Given the description of an element on the screen output the (x, y) to click on. 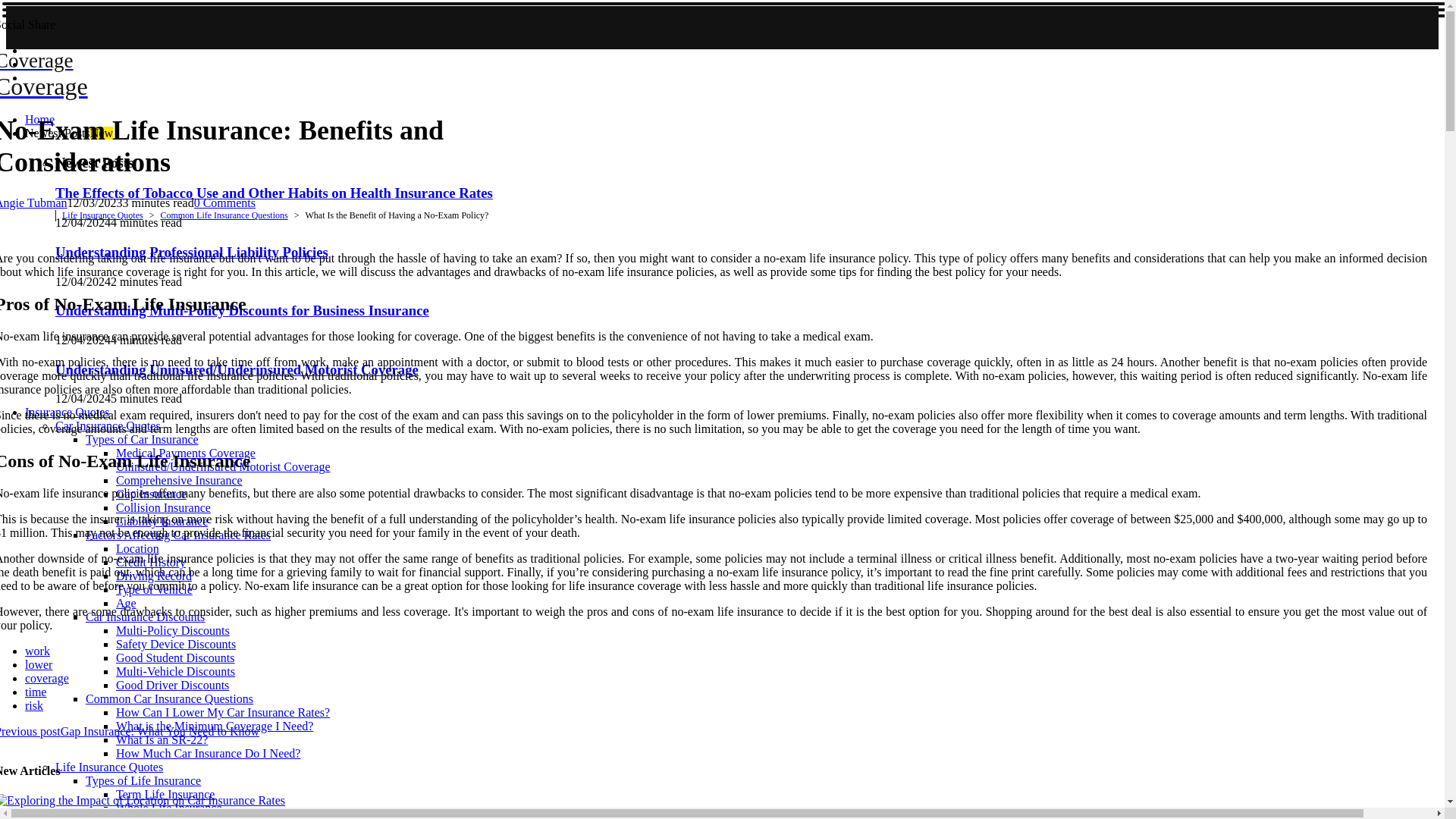
What is the Minimum Coverage I Need? (214, 725)
What Is an SR-22? (162, 739)
Type of Vehicle (154, 589)
Multi-Policy Discounts (173, 630)
Good Student Discounts (175, 657)
Understanding Multi-Policy Discounts for Business Insurance (242, 310)
Car Insurance Discounts (145, 616)
Medical Payments Coverage (186, 452)
Good Driver Discounts (172, 684)
Driving Record (154, 575)
Location (137, 548)
Comprehensive Insurance (179, 480)
Types of Car Insurance (141, 439)
Common Car Insurance Questions (169, 698)
Understanding Professional Liability Policies (192, 252)
